Given the description of an element on the screen output the (x, y) to click on. 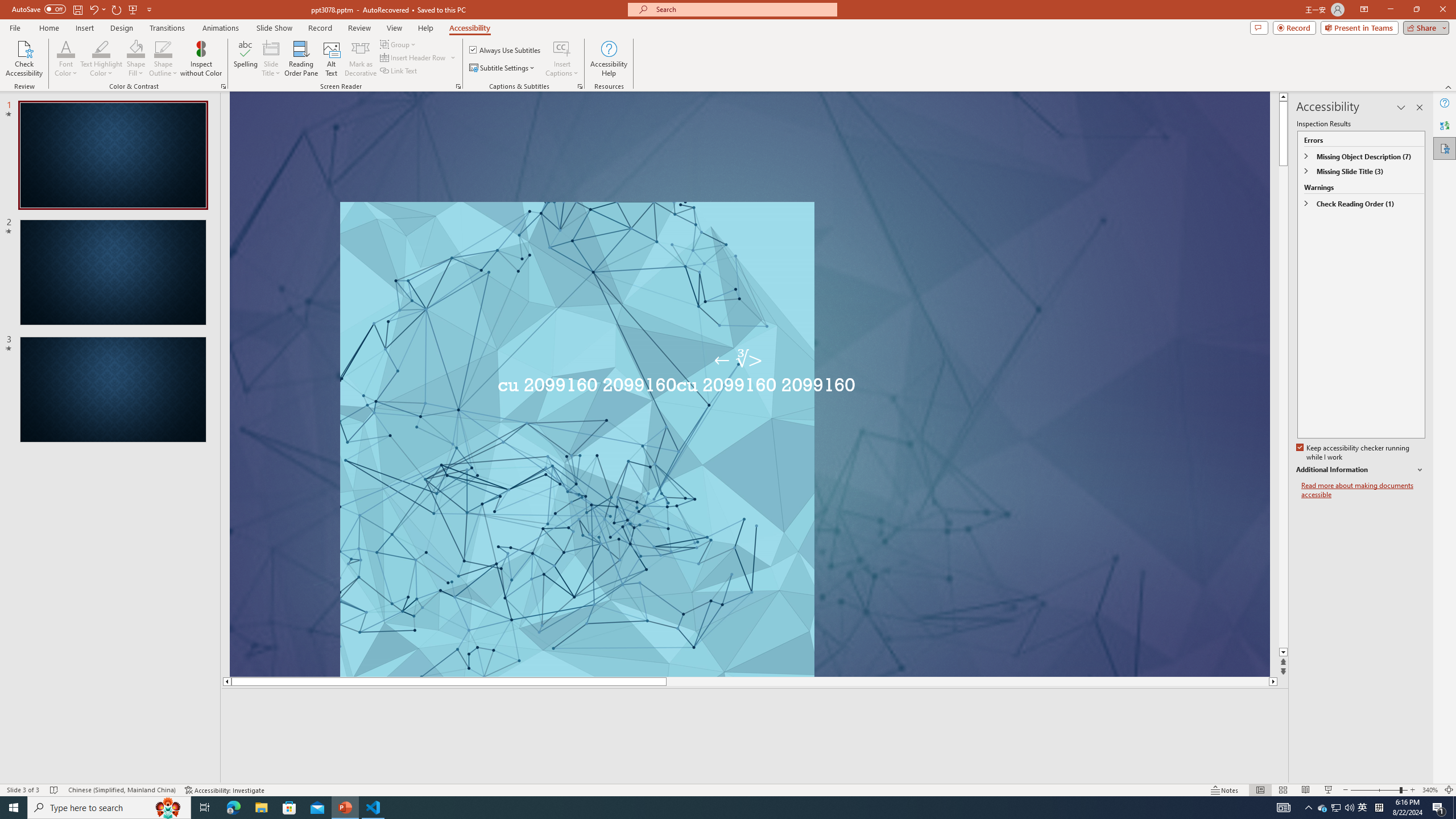
Inspect without Color (201, 58)
Insert Header Row (418, 56)
Spelling... (245, 58)
Slide Title (271, 58)
Zoom 340% (1430, 790)
